Given the description of an element on the screen output the (x, y) to click on. 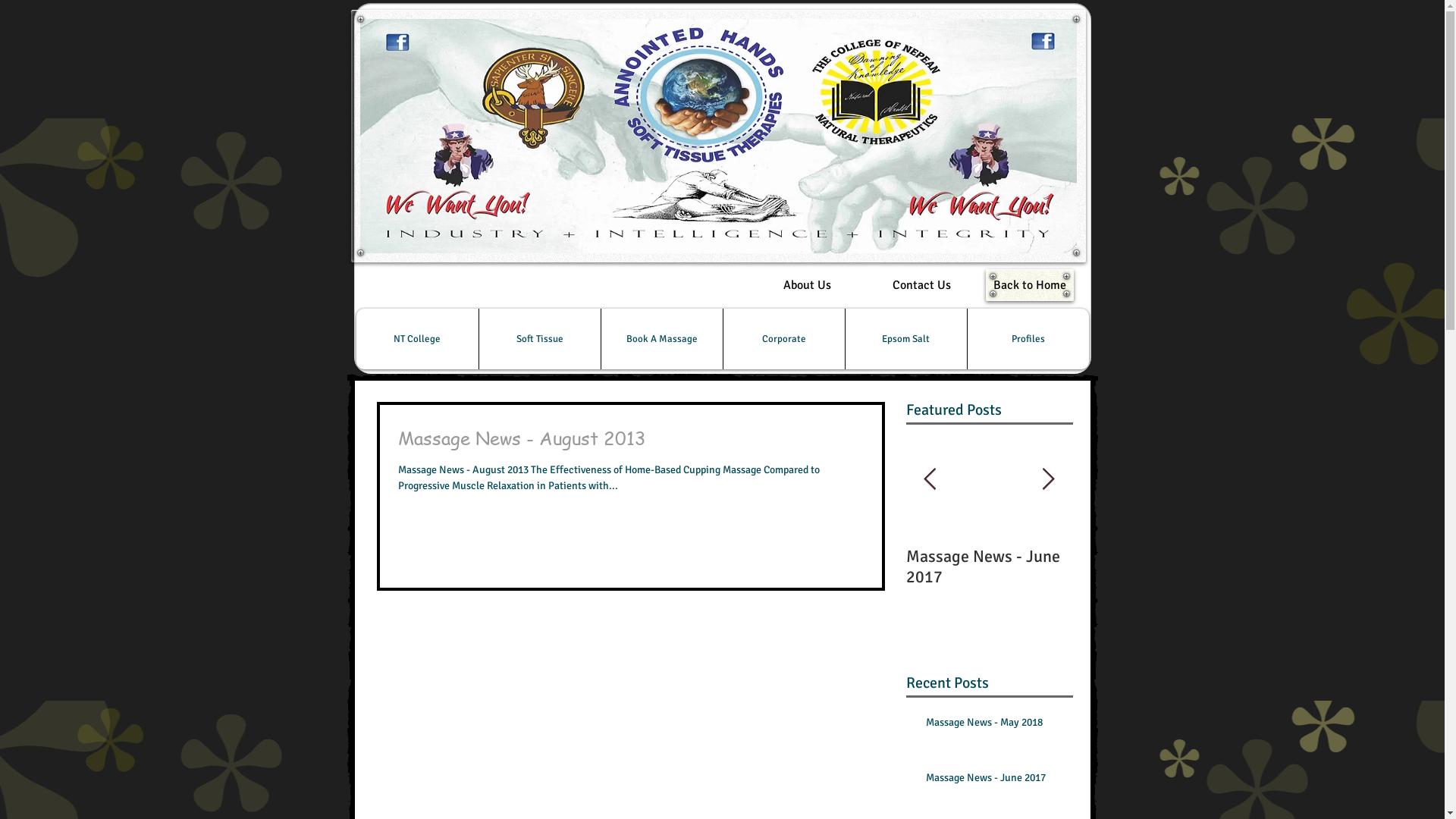
Soft Tissue Element type: text (538, 338)
Massage News - May 2017 Element type: text (1155, 566)
NT College Element type: text (417, 338)
Massage News - June 2017 Element type: text (988, 566)
Corporate Element type: text (782, 338)
Epsom Salt Element type: text (905, 338)
Contact Us Element type: text (920, 284)
About Us Element type: text (806, 284)
frontdoorshop_edited.jpg Element type: hover (717, 135)
Profiles Element type: text (1027, 338)
Massage News - August 2013 Element type: text (629, 442)
Book A Massage Element type: text (661, 338)
Massage News - May 2018 Element type: text (994, 725)
Massage News - June 2017 Element type: text (994, 780)
Massage News - May 2018 Element type: text (821, 566)
Massage News - April 2017 Element type: text (1322, 566)
Back to Home Element type: text (1029, 285)
